Given the description of an element on the screen output the (x, y) to click on. 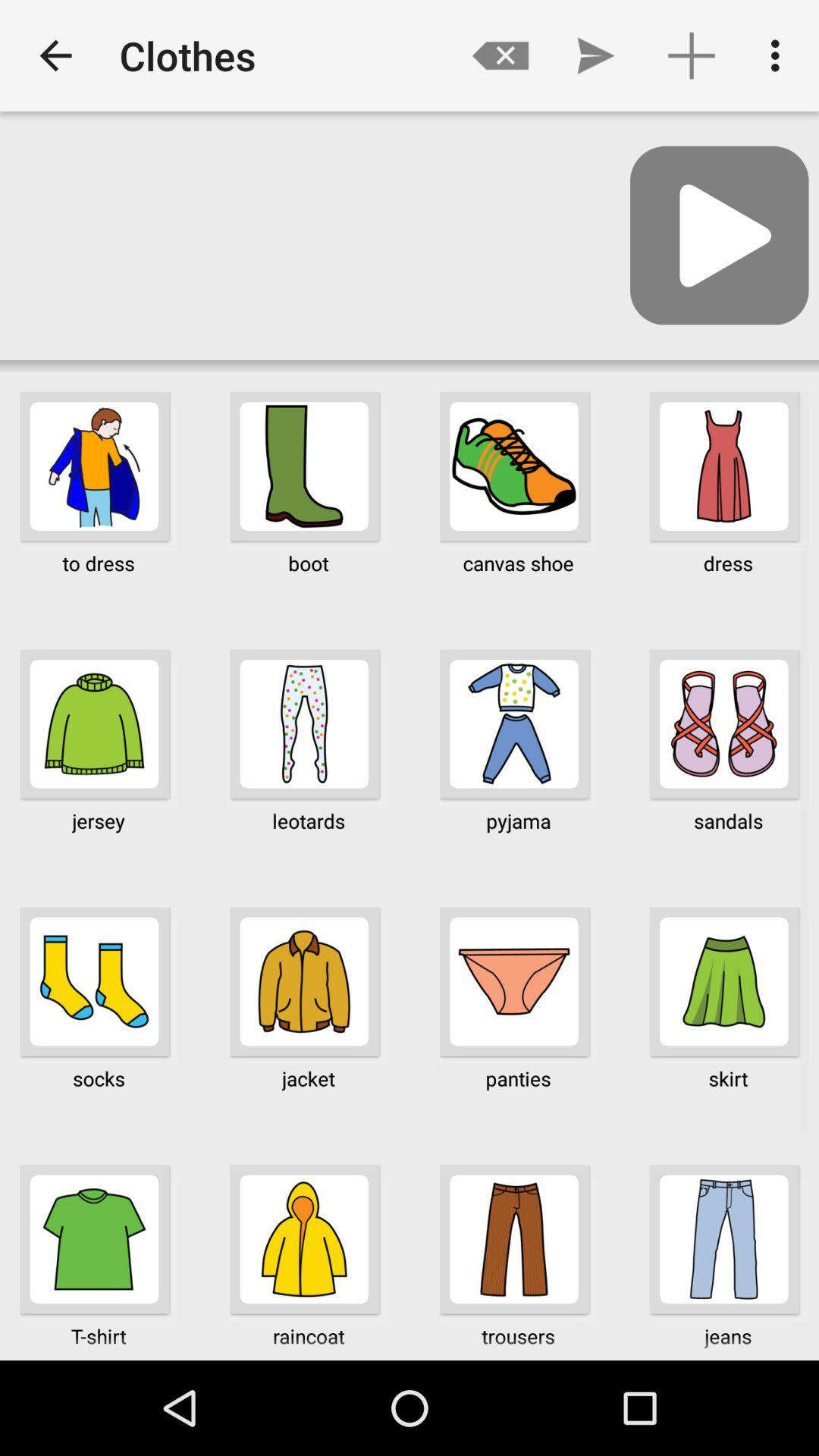
go forward (719, 235)
